Given the description of an element on the screen output the (x, y) to click on. 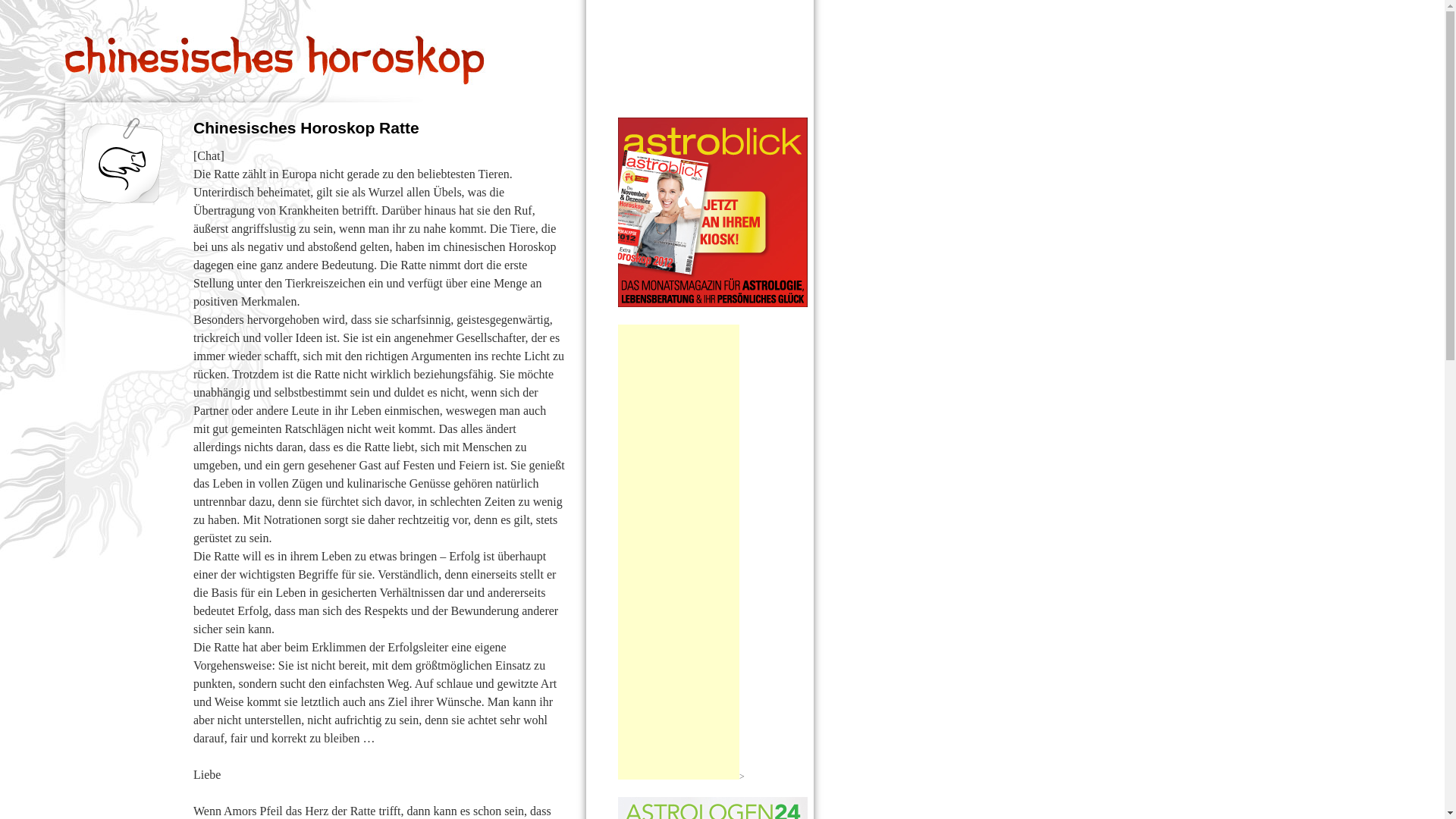
Advertisement Element type: hover (678, 551)
